Given the description of an element on the screen output the (x, y) to click on. 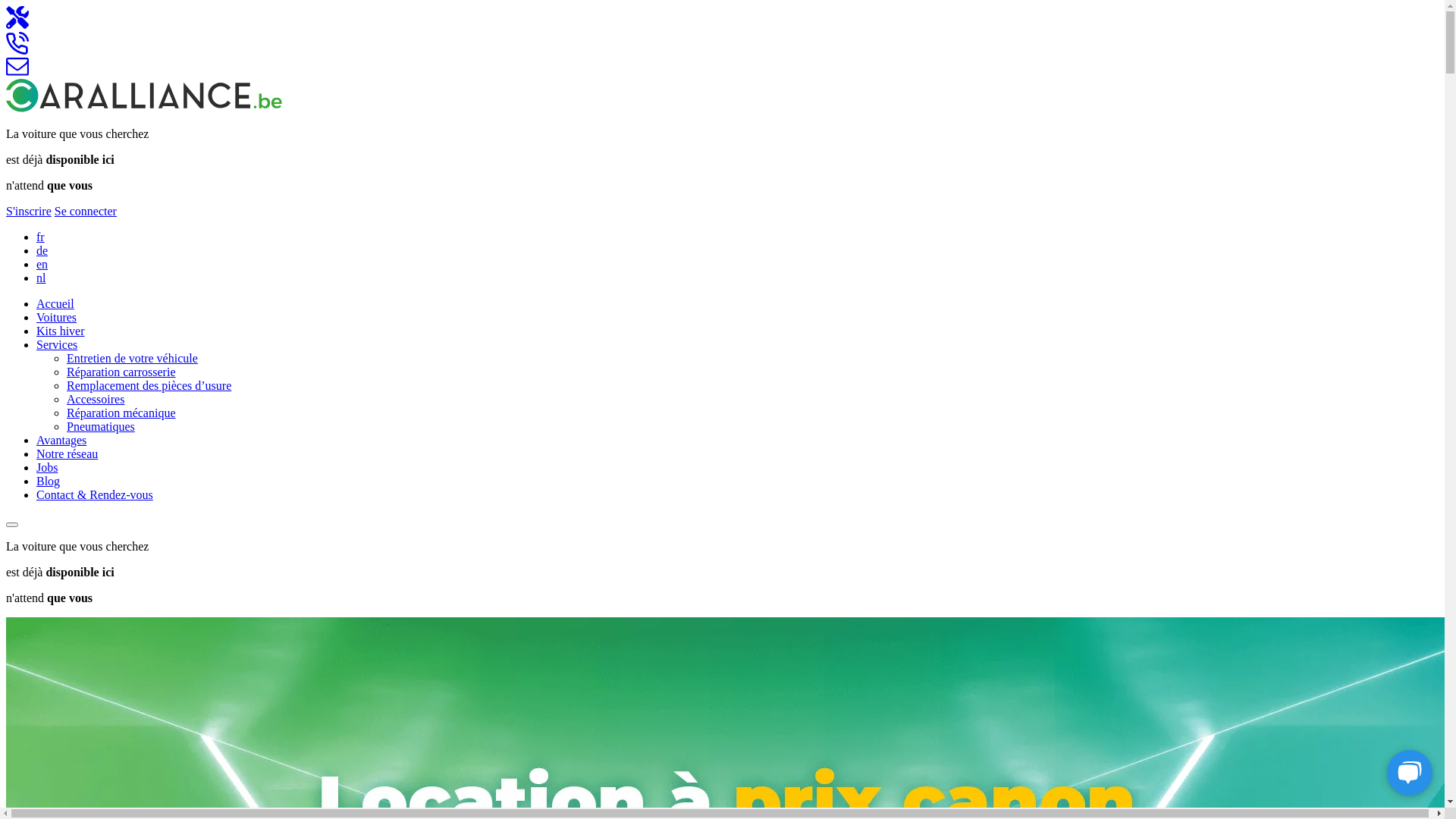
S'inscrire Element type: text (28, 210)
Accessoires Element type: text (95, 398)
Services Element type: text (56, 344)
Accueil Element type: text (55, 303)
fr Element type: text (40, 236)
Contact & Rendez-vous Element type: text (94, 494)
Kits hiver Element type: text (60, 330)
Avantages Element type: text (61, 439)
nl Element type: text (40, 277)
Pneumatiques Element type: text (100, 426)
Voitures Element type: text (56, 316)
en Element type: text (41, 263)
Blog Element type: text (47, 480)
de Element type: text (41, 250)
Se connecter Element type: text (85, 210)
Jobs Element type: text (46, 467)
